Given the description of an element on the screen output the (x, y) to click on. 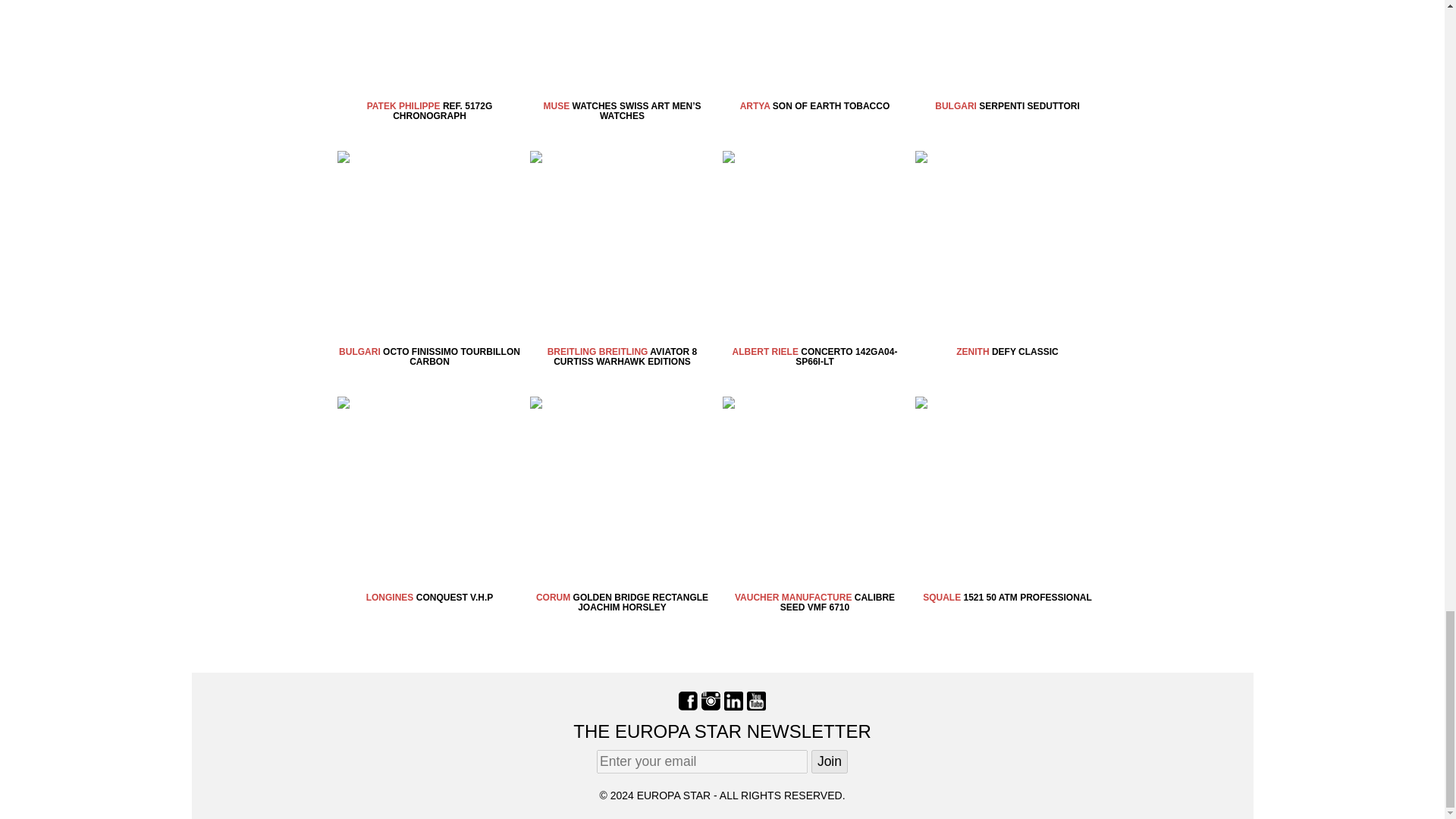
Join (828, 761)
Linkedin (732, 700)
Instagram (710, 700)
Facebook (687, 700)
Youtube (755, 700)
